Given the description of an element on the screen output the (x, y) to click on. 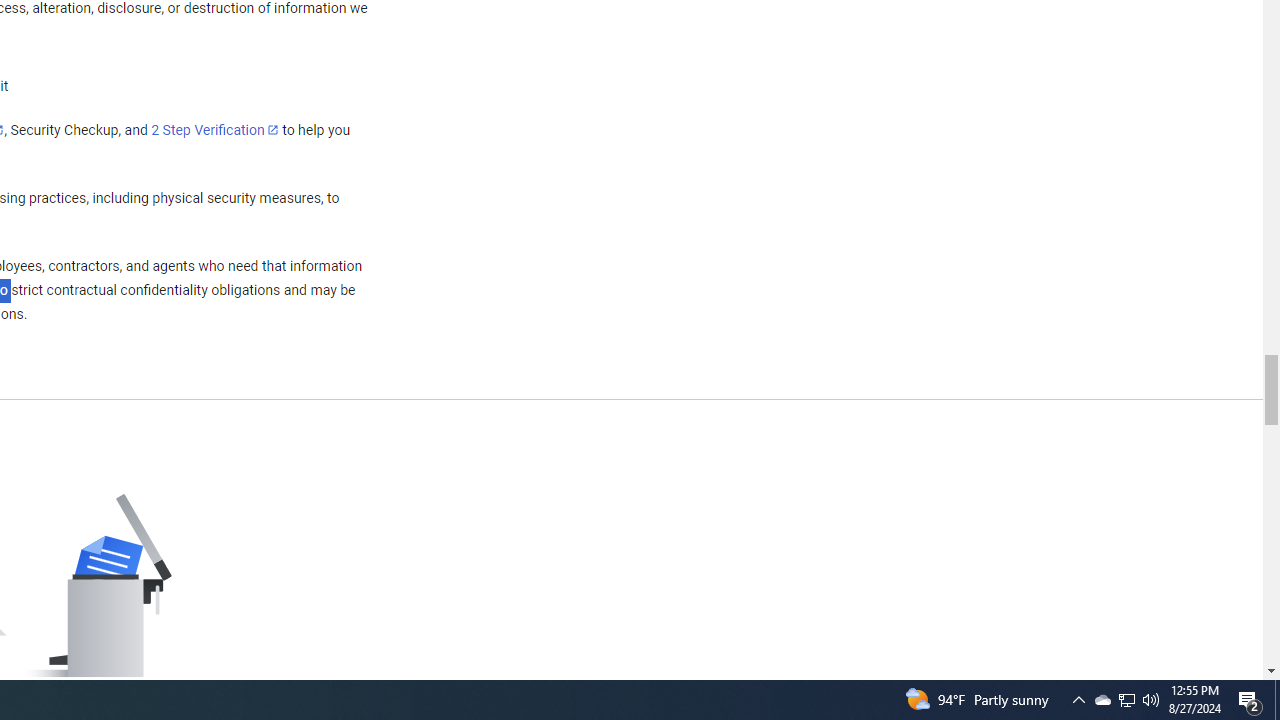
2 Step Verification (215, 129)
